Given the description of an element on the screen output the (x, y) to click on. 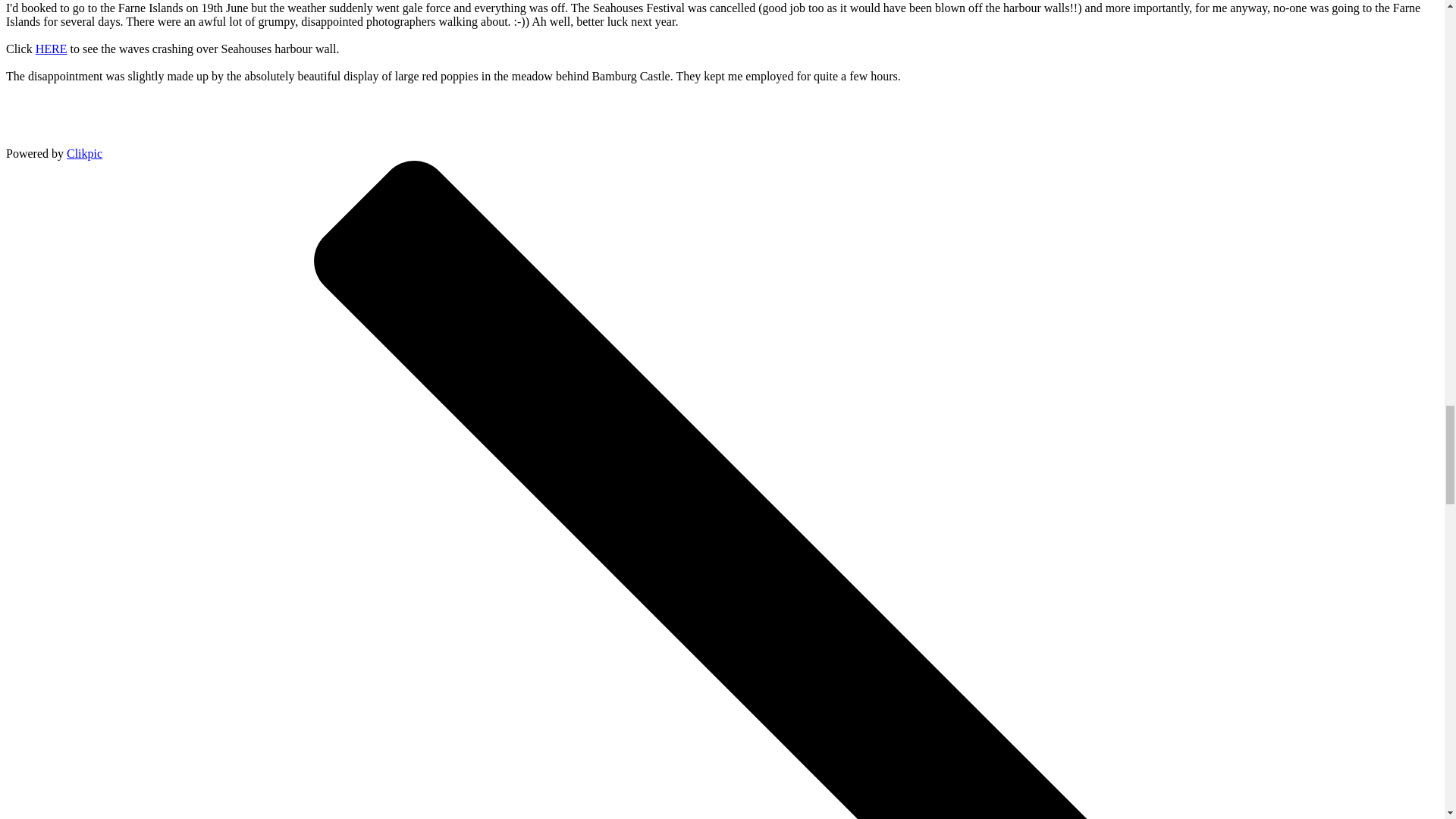
Clikpic (83, 153)
HERE (50, 48)
